Given the description of an element on the screen output the (x, y) to click on. 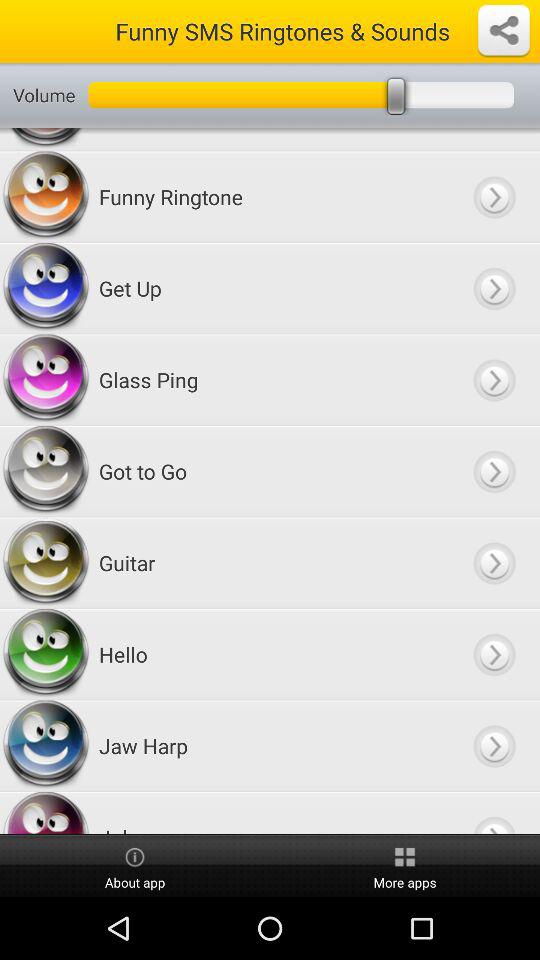
go to next page (494, 813)
